Given the description of an element on the screen output the (x, y) to click on. 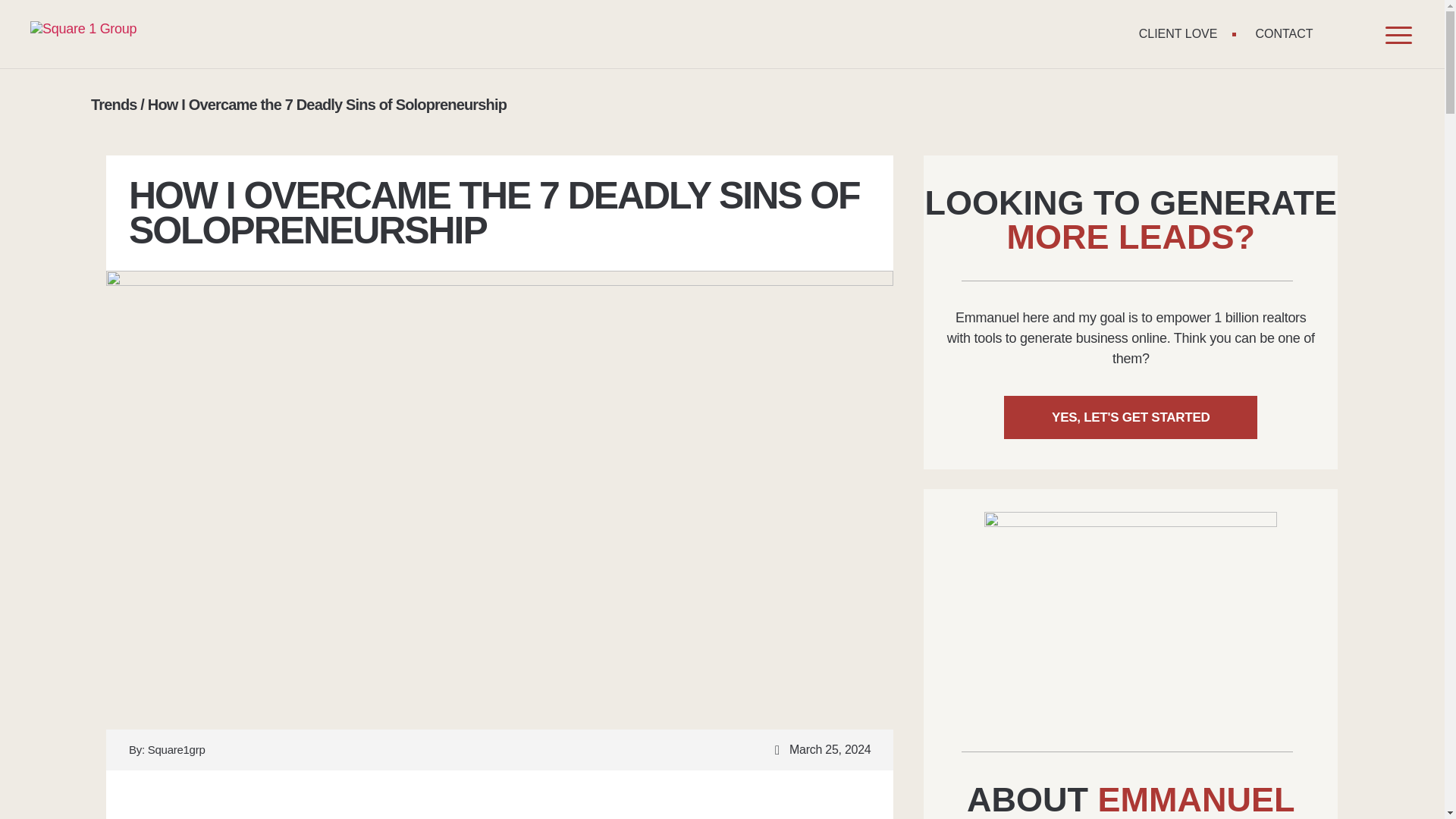
CONTACT (1284, 33)
YES, LET'S GET STARTED (1130, 416)
March 25, 2024 (818, 750)
By: Square1grp (167, 750)
CLIENT LOVE (1177, 33)
